Given the description of an element on the screen output the (x, y) to click on. 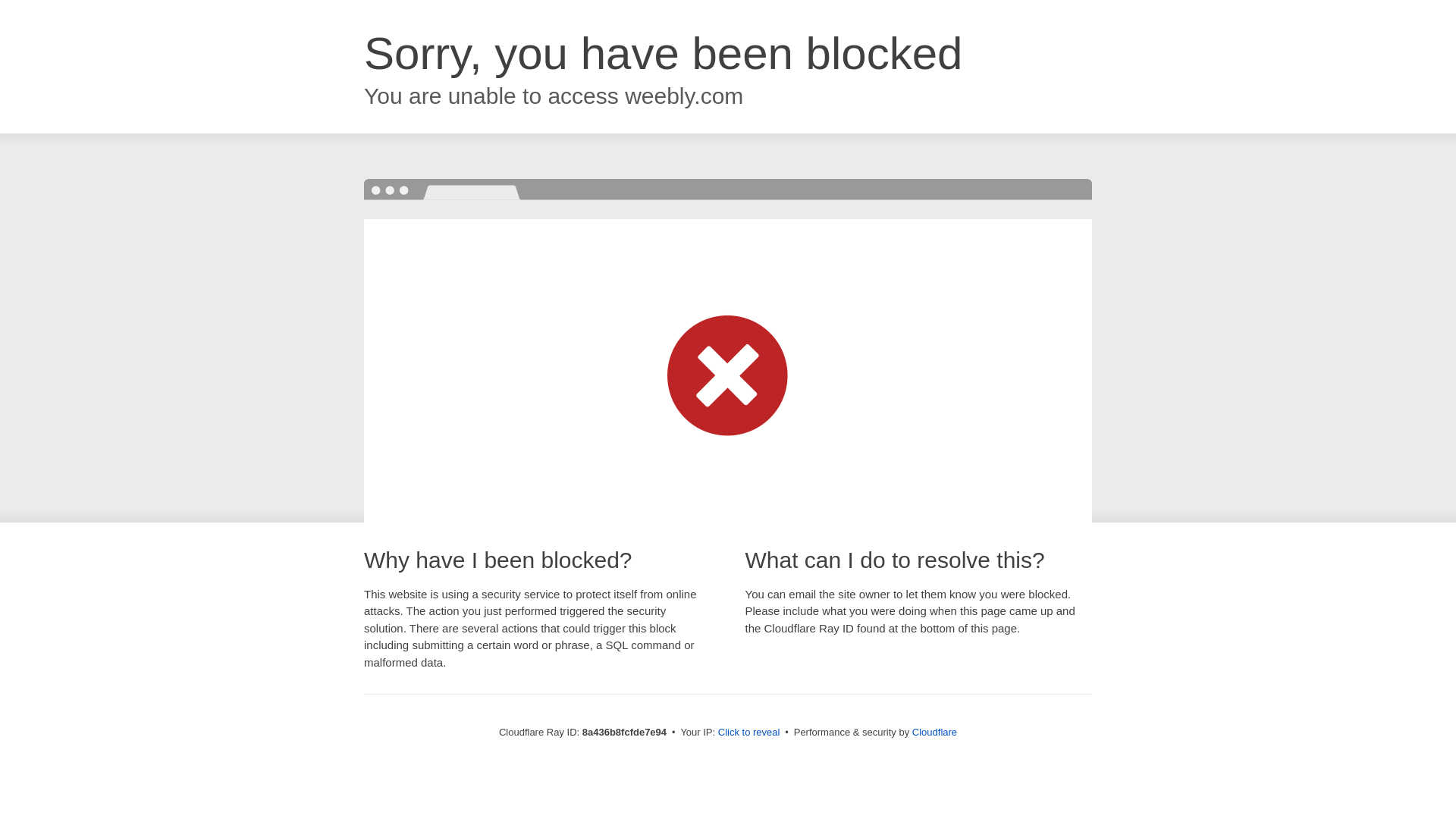
Click to reveal (748, 732)
Cloudflare (934, 731)
